Given the description of an element on the screen output the (x, y) to click on. 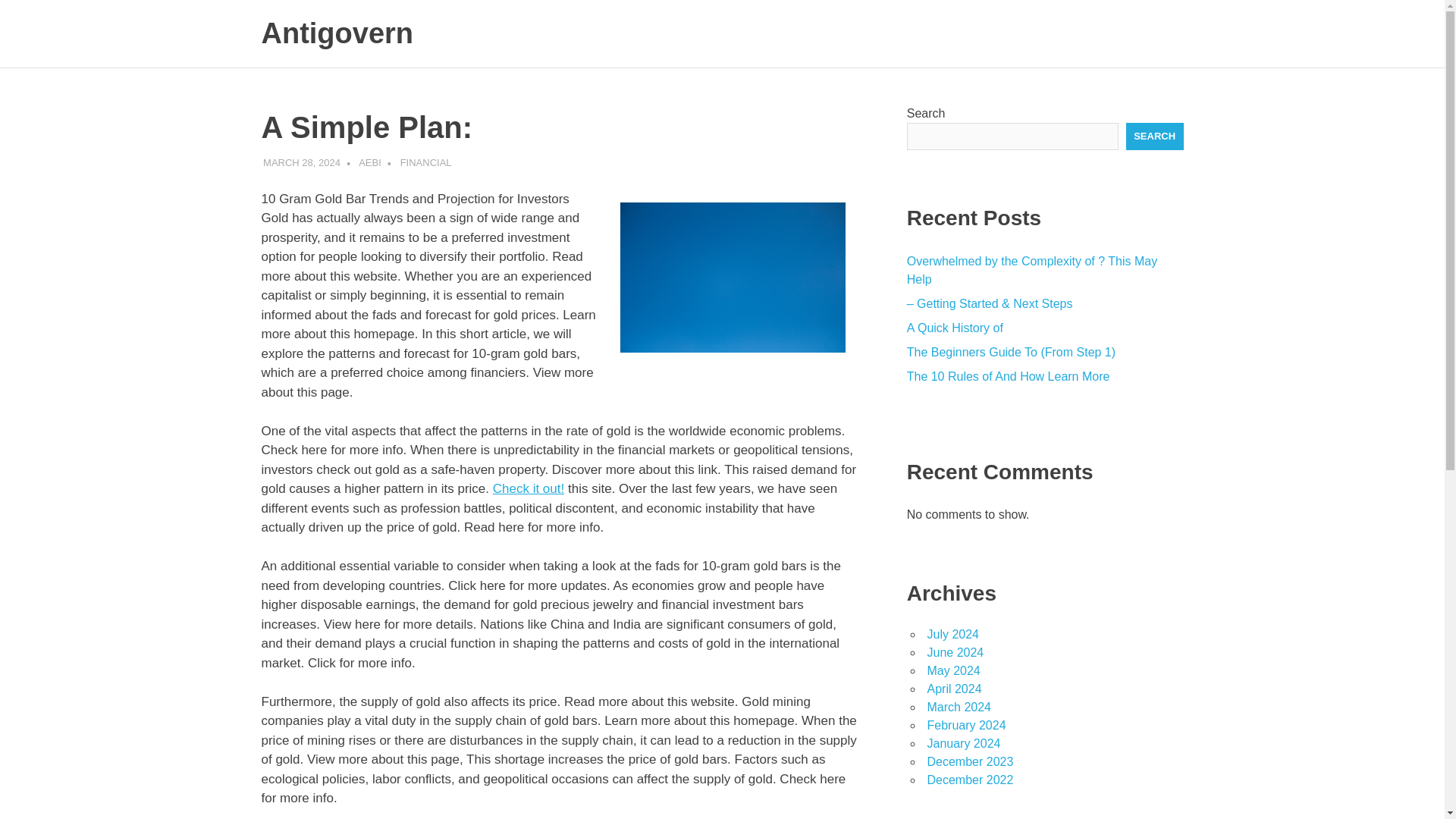
Antigovern (336, 33)
SEARCH (1154, 135)
MARCH 28, 2024 (301, 161)
4:17 am (301, 161)
A Quick History of (955, 327)
FINANCIAL (425, 161)
Overwhelmed by the Complexity of ? This May Help (1032, 269)
February 2024 (966, 725)
December 2022 (969, 779)
January 2024 (963, 743)
The 10 Rules of And How Learn More (1008, 376)
AEBI (369, 161)
View all posts by aebi (369, 161)
June 2024 (955, 652)
May 2024 (952, 670)
